Given the description of an element on the screen output the (x, y) to click on. 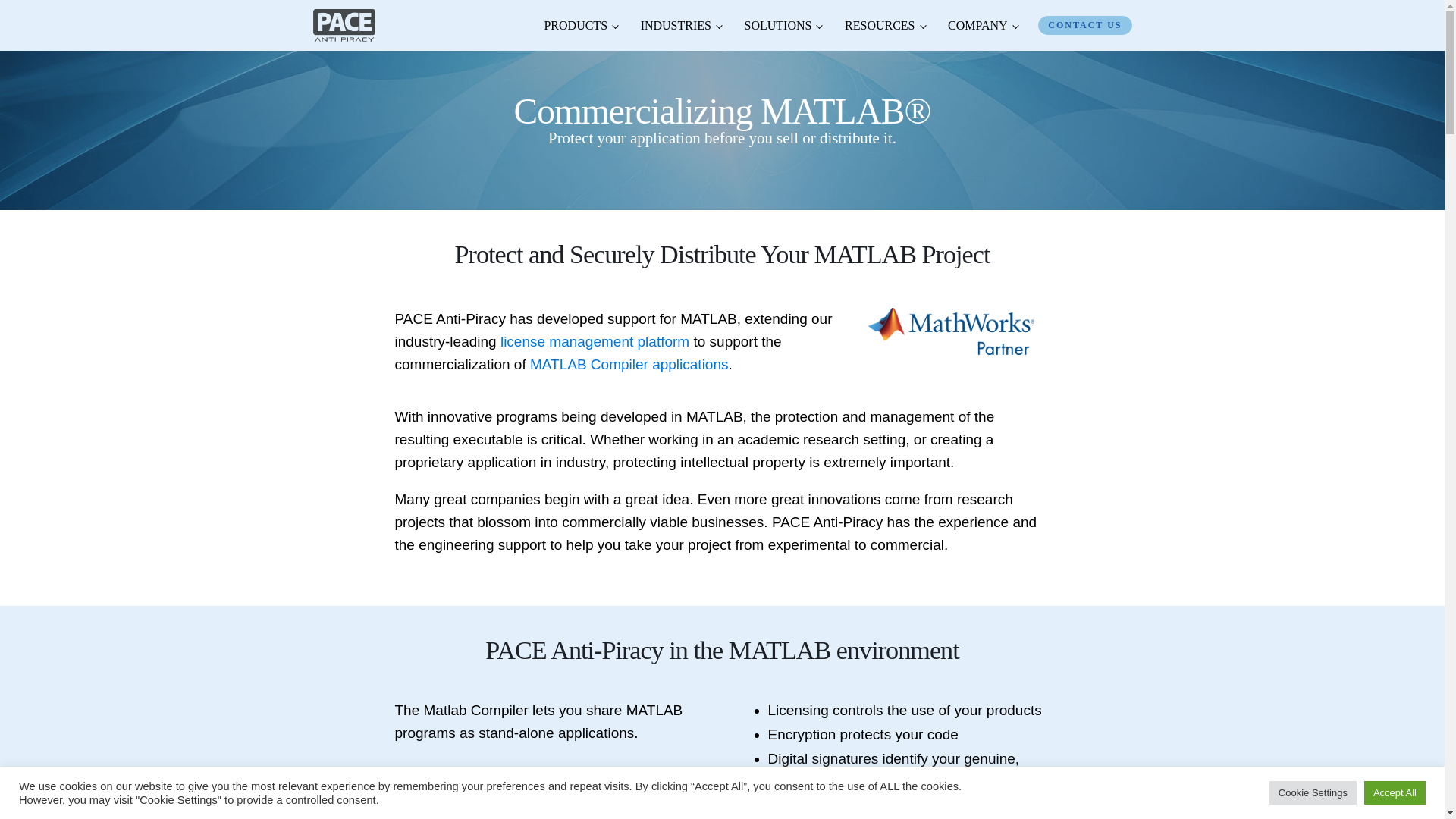
MATLAB Compiler applications (629, 364)
RESOURCES (884, 25)
COMPANY (982, 25)
INDUSTRIES (680, 25)
CONTACT US (1084, 24)
PRODUCTS (580, 25)
license management platform (594, 341)
SOLUTIONS (782, 25)
